Given the description of an element on the screen output the (x, y) to click on. 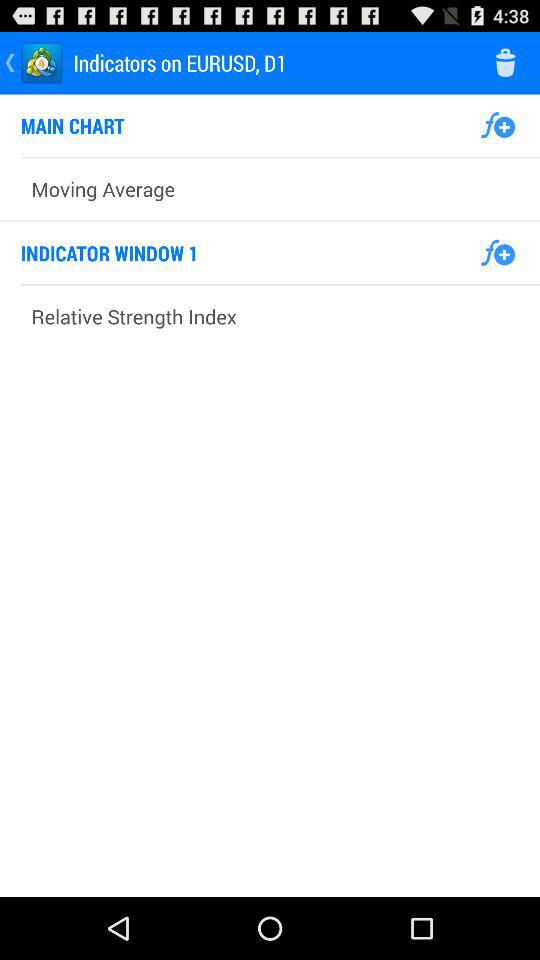
add entry (498, 125)
